Given the description of an element on the screen output the (x, y) to click on. 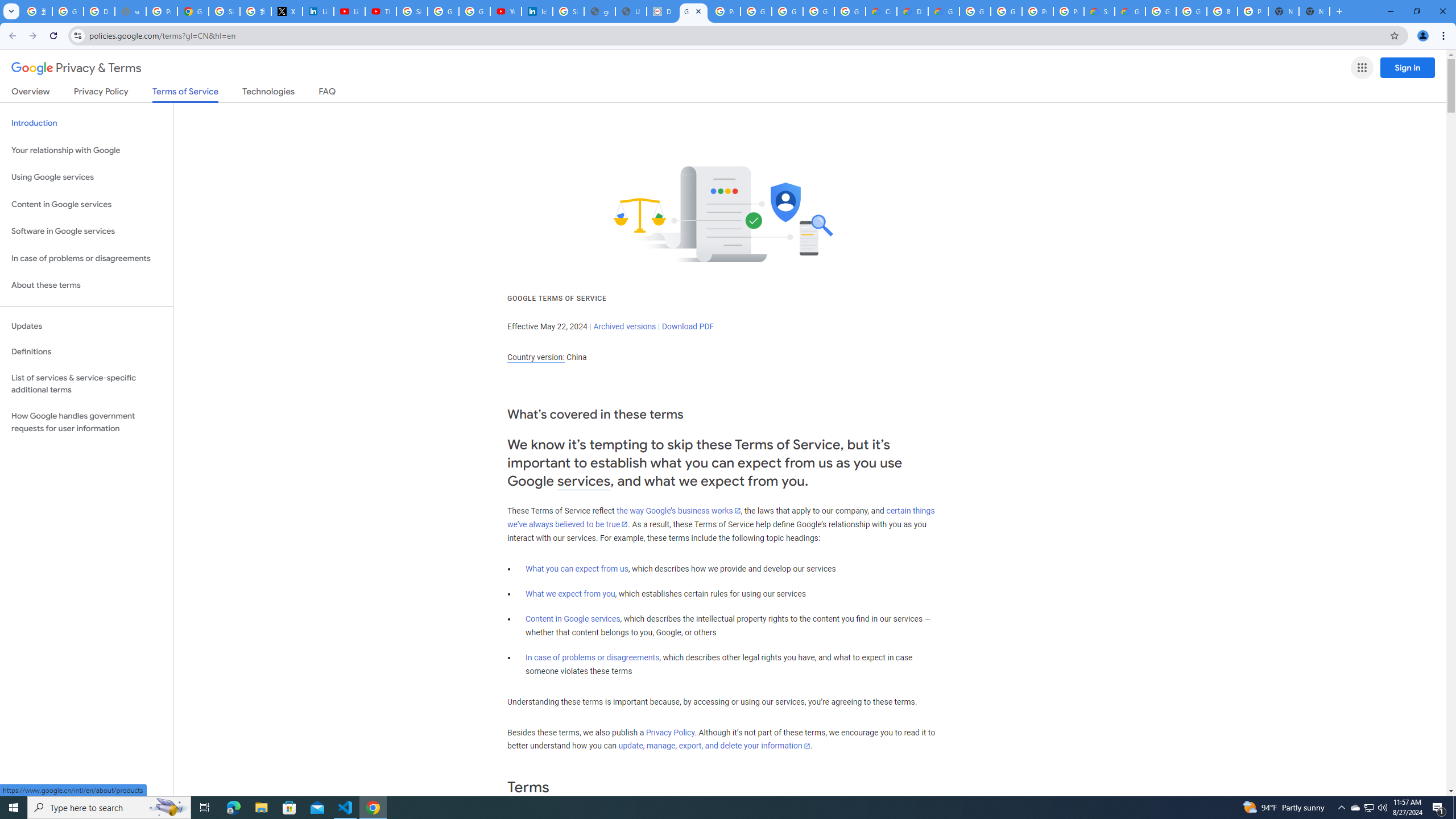
About these terms (86, 284)
google_privacy_policy_en.pdf (599, 11)
Google Workspace - Specific Terms (818, 11)
Sign in - Google Accounts (411, 11)
Archived versions (624, 326)
X (286, 11)
What you can expect from us (576, 568)
